Given the description of an element on the screen output the (x, y) to click on. 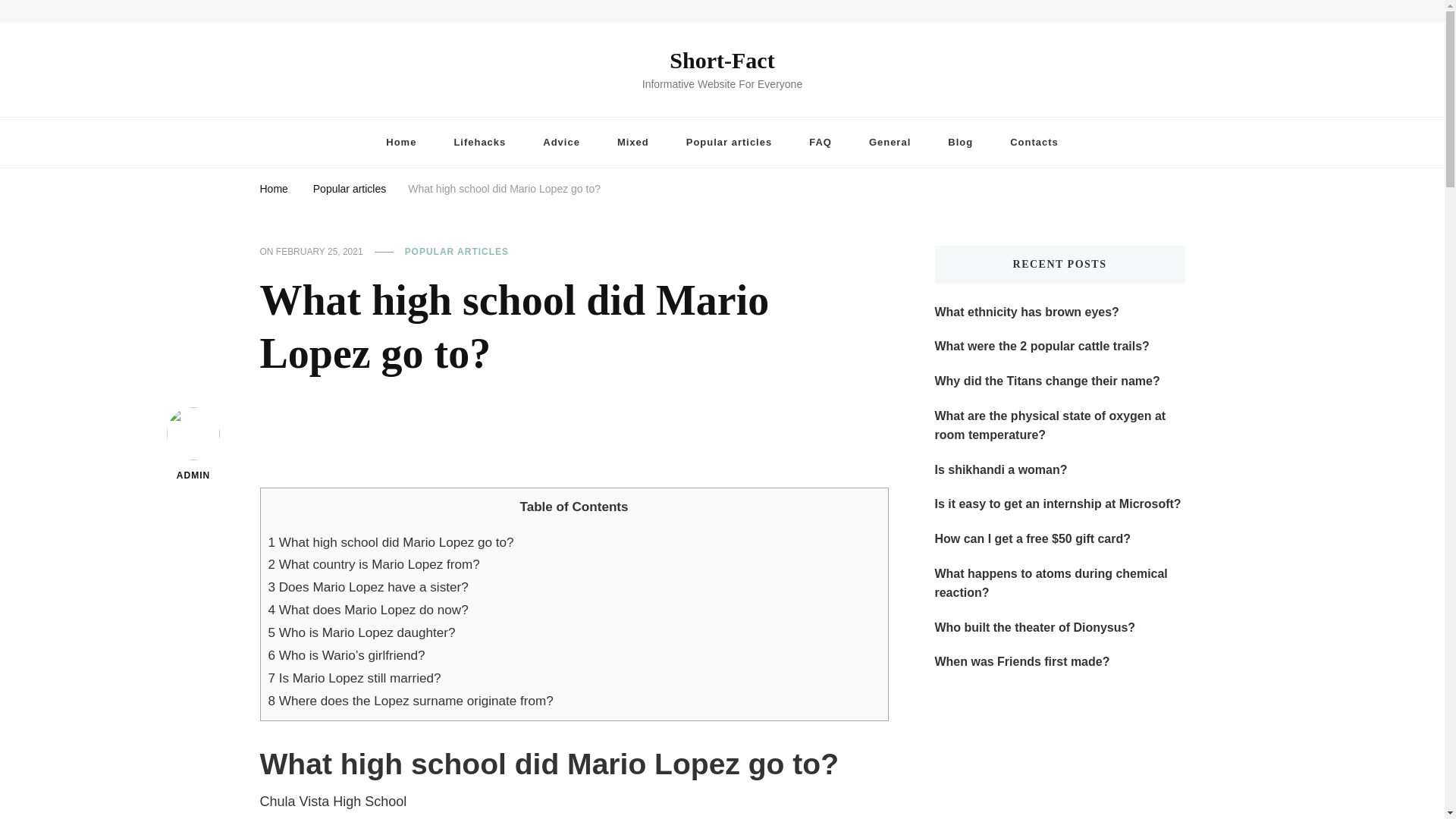
What were the 2 popular cattle trails? (1041, 346)
ADMIN (193, 445)
What ethnicity has brown eyes? (1026, 312)
FEBRUARY 25, 2021 (319, 252)
What high school did Mario Lopez go to? (503, 187)
Contacts (1033, 142)
Advice (560, 142)
FAQ (820, 142)
1 What high school did Mario Lopez go to? (390, 542)
2 What country is Mario Lopez from? (373, 564)
Home (272, 187)
4 What does Mario Lopez do now? (367, 609)
Home (400, 142)
POPULAR ARTICLES (456, 252)
8 Where does the Lopez surname originate from? (410, 700)
